Given the description of an element on the screen output the (x, y) to click on. 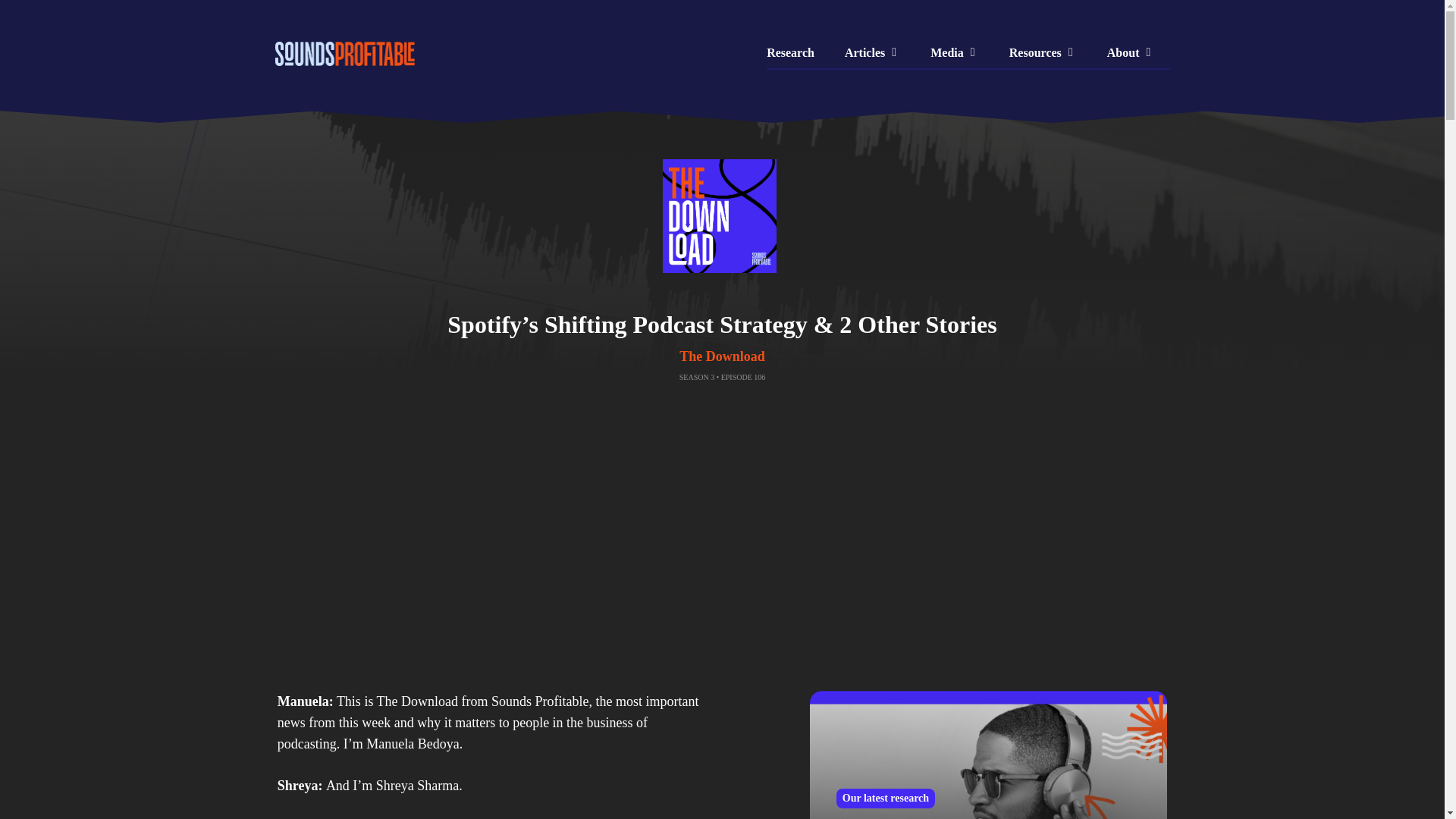
About (1131, 52)
Resources (1043, 52)
Media (954, 52)
Research (798, 52)
Articles (872, 52)
